Given the description of an element on the screen output the (x, y) to click on. 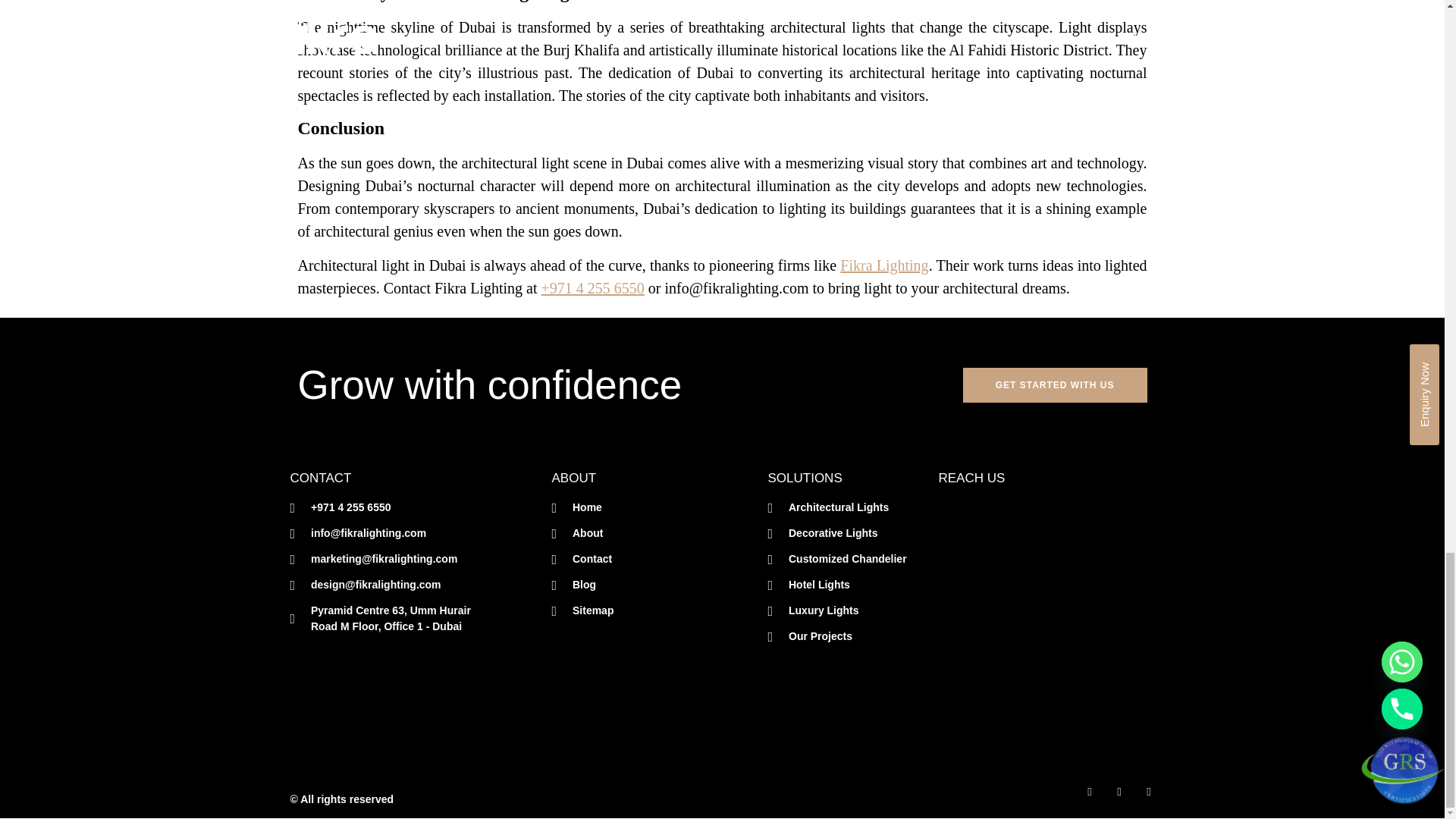
Fikra Lighting Solutions (1046, 613)
